Given the description of an element on the screen output the (x, y) to click on. 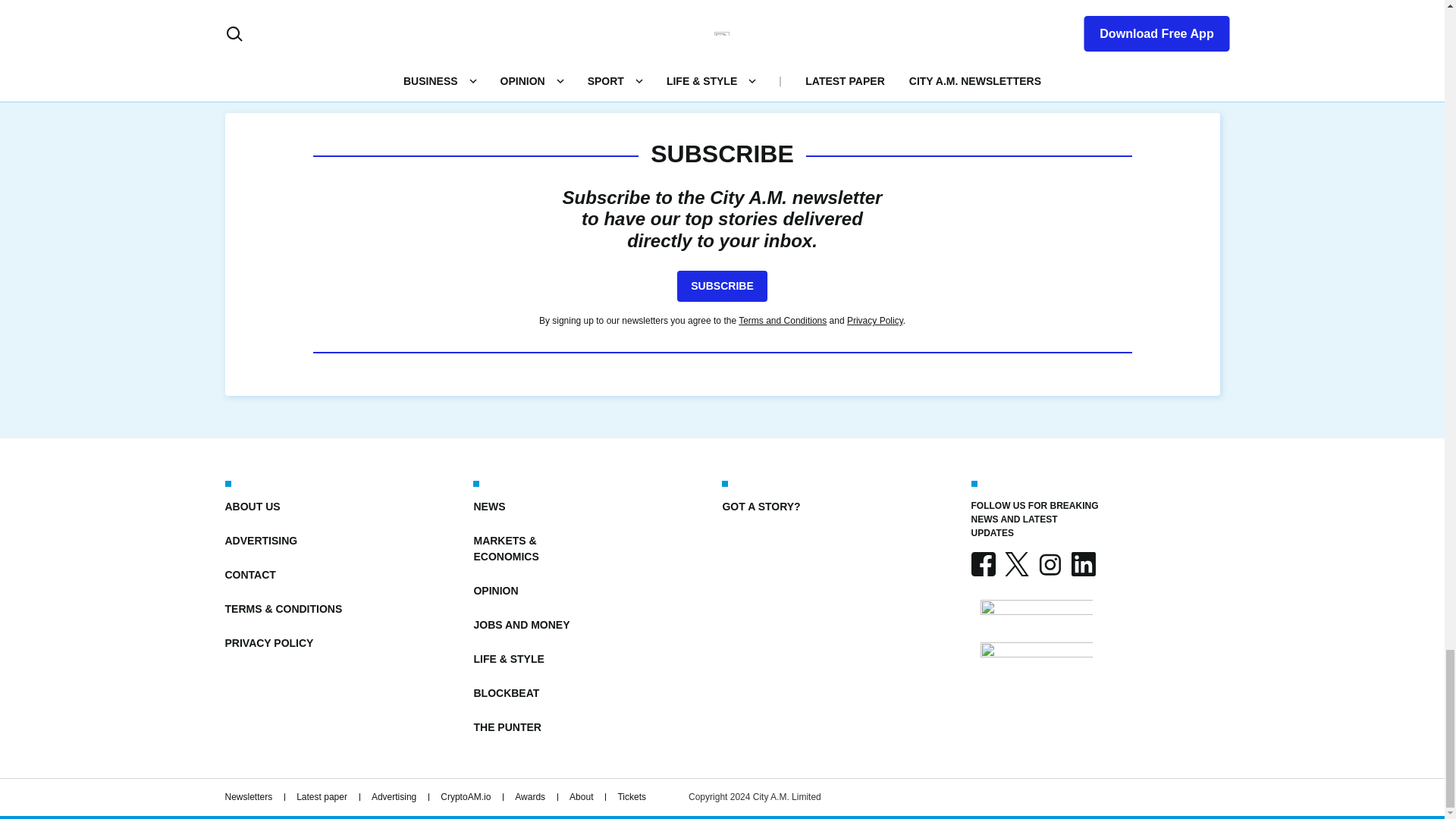
X (1015, 564)
LINKEDIN (1082, 564)
INSTAGRAM (1048, 564)
FACEBOOK (982, 564)
